Given the description of an element on the screen output the (x, y) to click on. 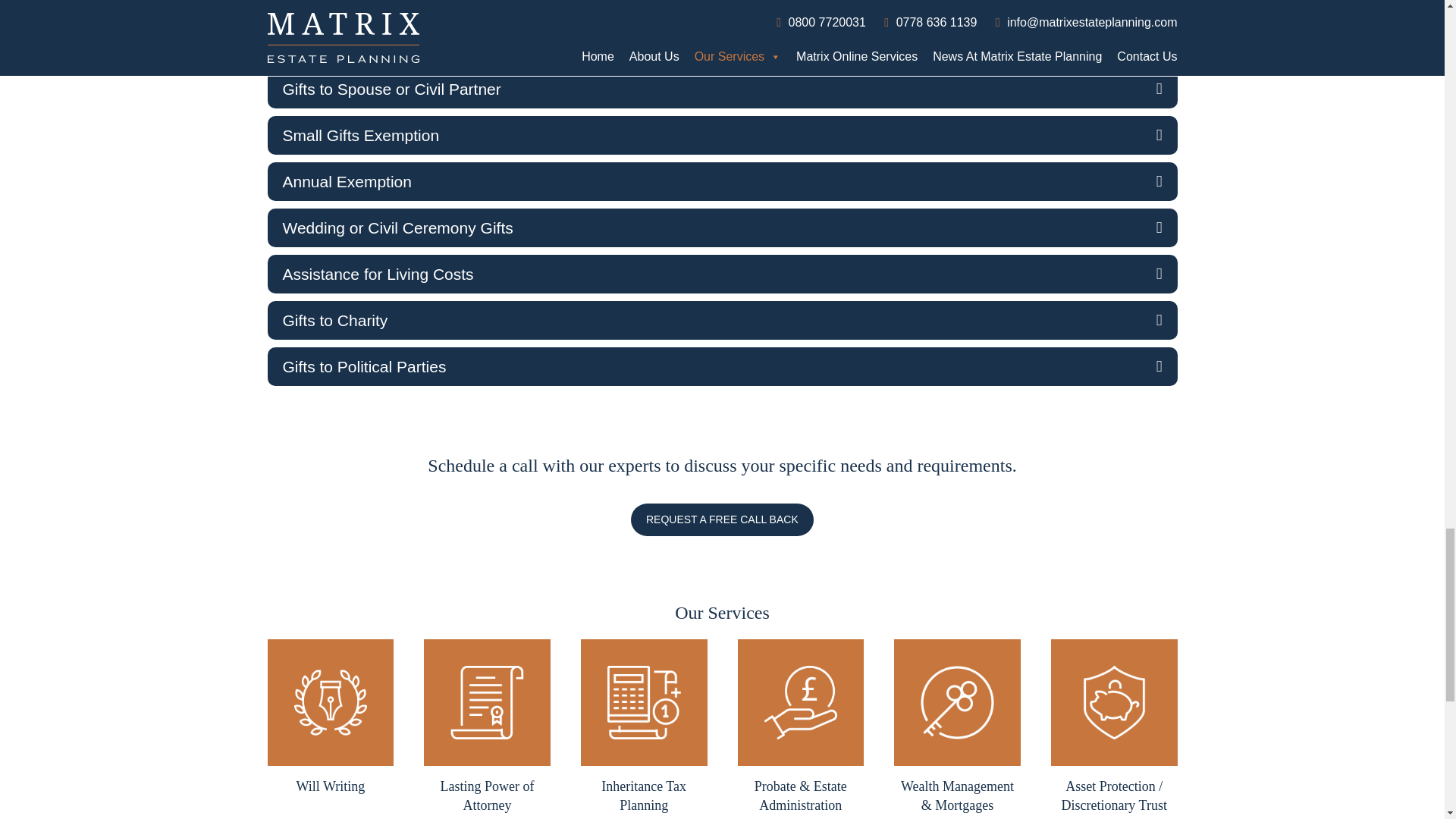
REQUEST A FREE CALL BACK (721, 519)
